Given the description of an element on the screen output the (x, y) to click on. 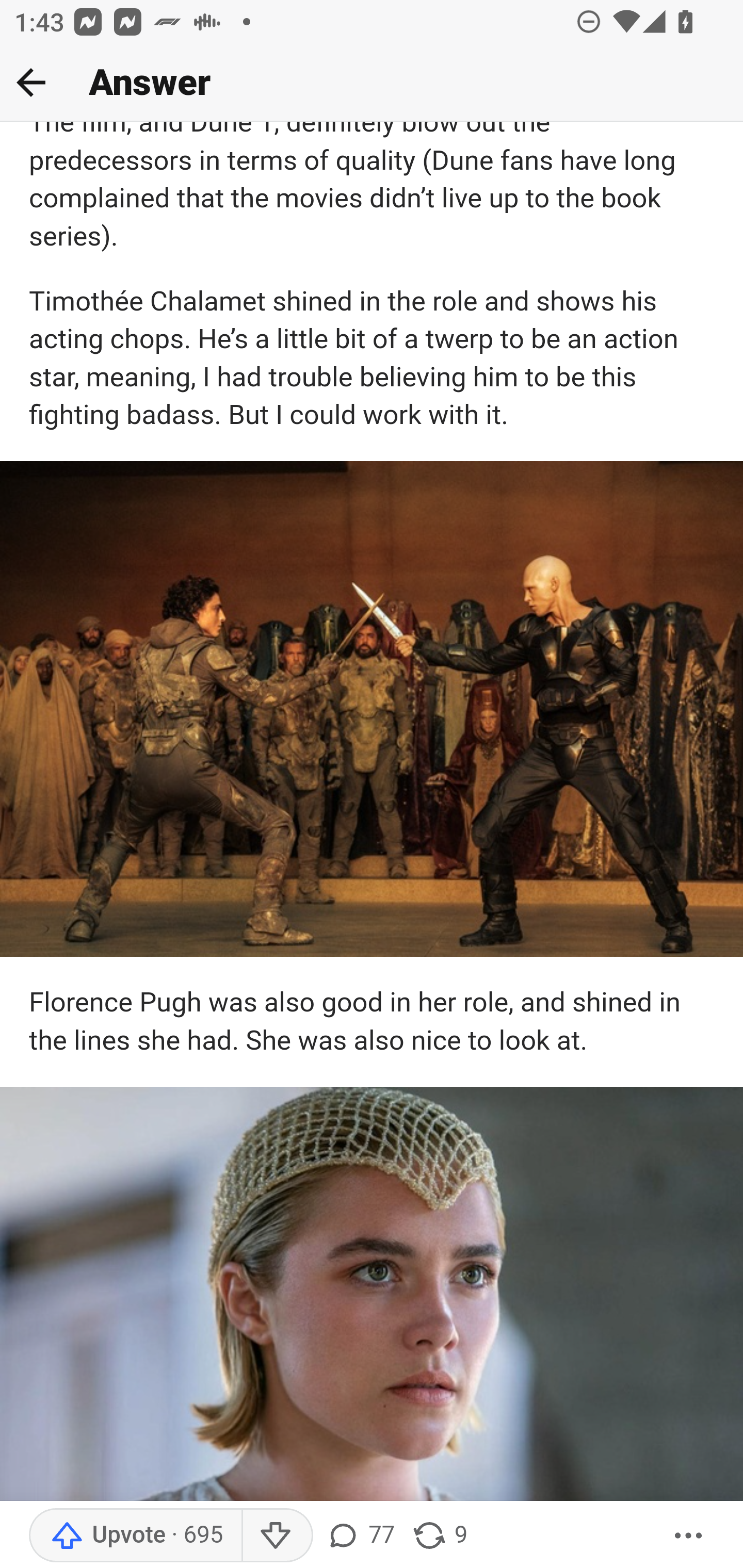
Back (30, 82)
main-qimg-cccb61f29d39ea515acf9925c6e5d1be (371, 709)
main-qimg-25b8b1f2e44b4cd405b9f337c8cbc1ea (371, 1295)
Upvote (135, 1535)
Downvote (277, 1535)
77 comments (360, 1535)
9 shares (439, 1535)
More (688, 1535)
